Given the description of an element on the screen output the (x, y) to click on. 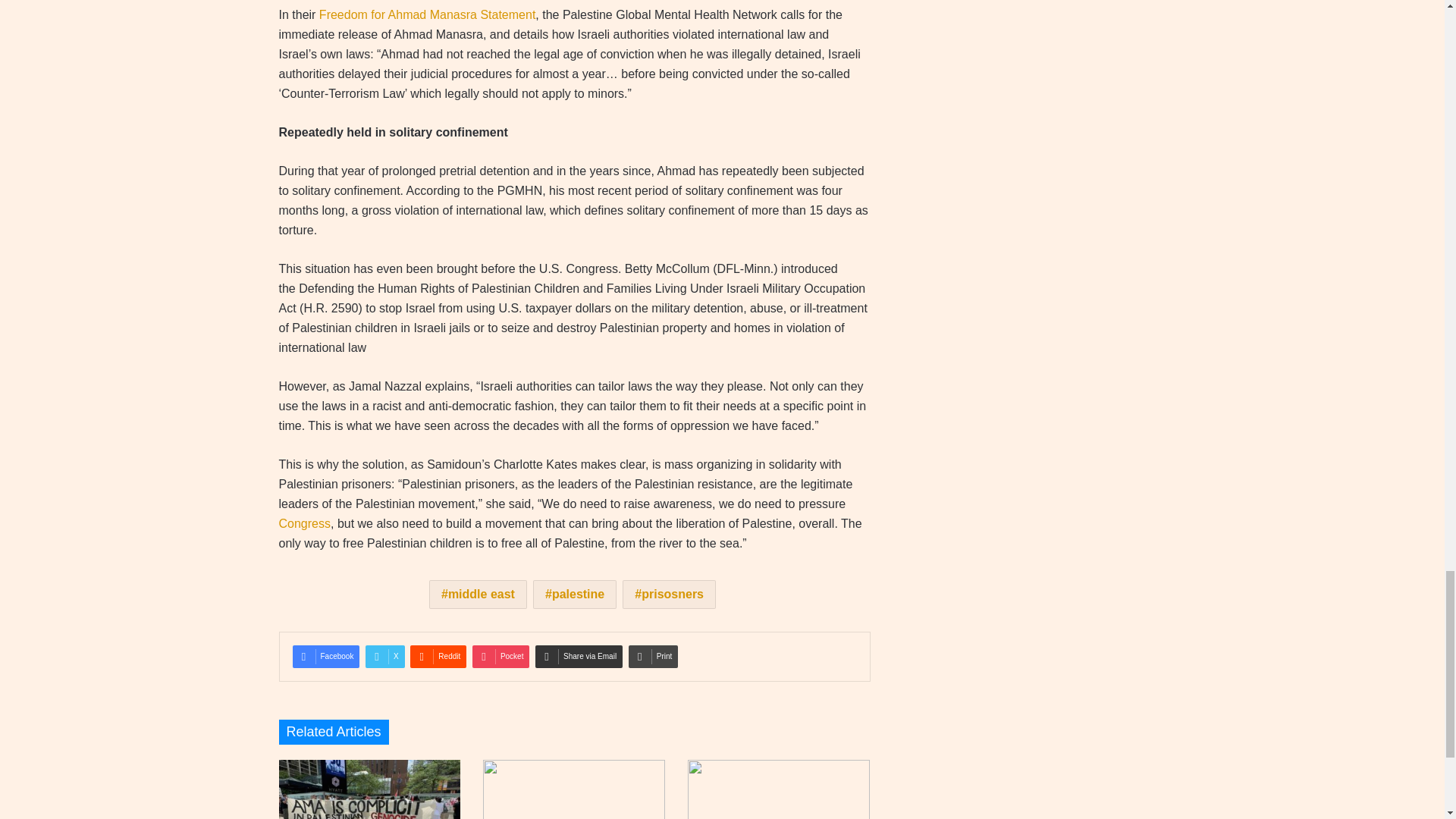
Pocket (500, 656)
Freedom for Ahmad Manasra Statement (425, 14)
Facebook (325, 656)
X (384, 656)
Share via Email (579, 656)
Congress (304, 522)
Print (653, 656)
Reddit (437, 656)
middle east (478, 594)
